Given the description of an element on the screen output the (x, y) to click on. 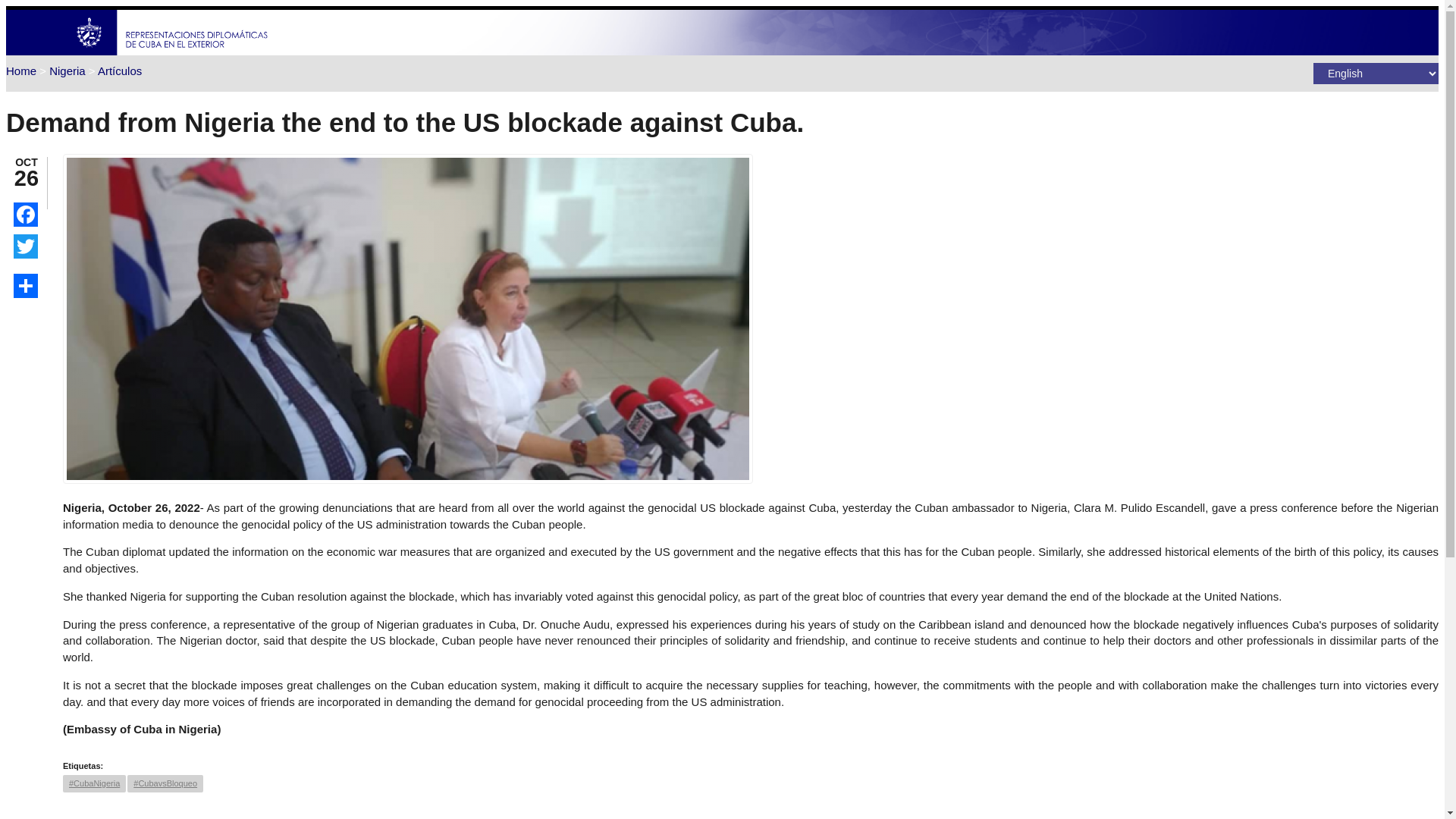
Home (172, 51)
Nigeria (67, 70)
Demand from Nigeria the end to the US blockade against Cuba. (407, 479)
FACEBOOK (25, 214)
Home (20, 70)
TWITTER (25, 246)
